Given the description of an element on the screen output the (x, y) to click on. 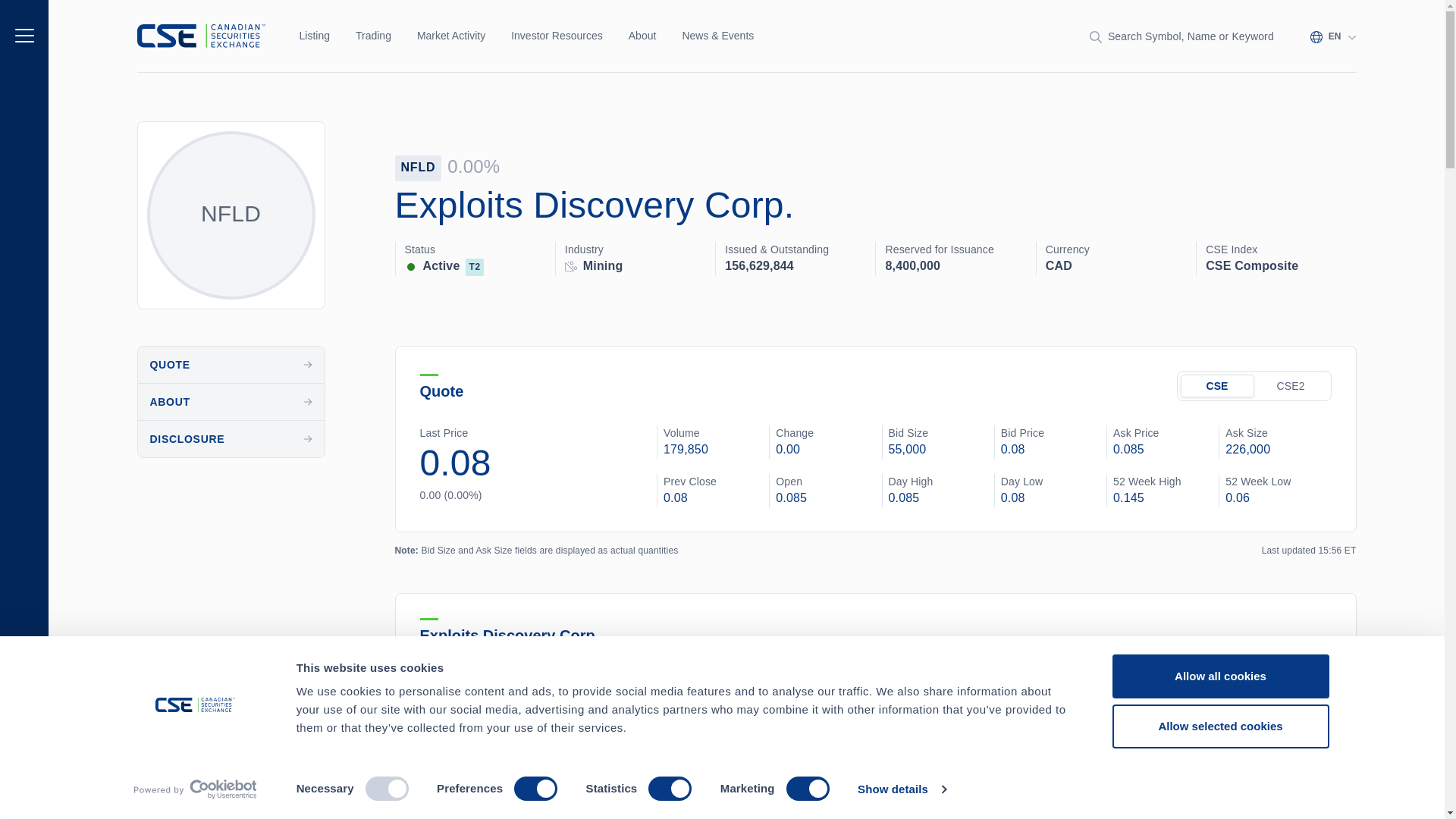
Show details (900, 789)
Allow all cookies (1219, 676)
Allow selected cookies (1219, 725)
